Given the description of an element on the screen output the (x, y) to click on. 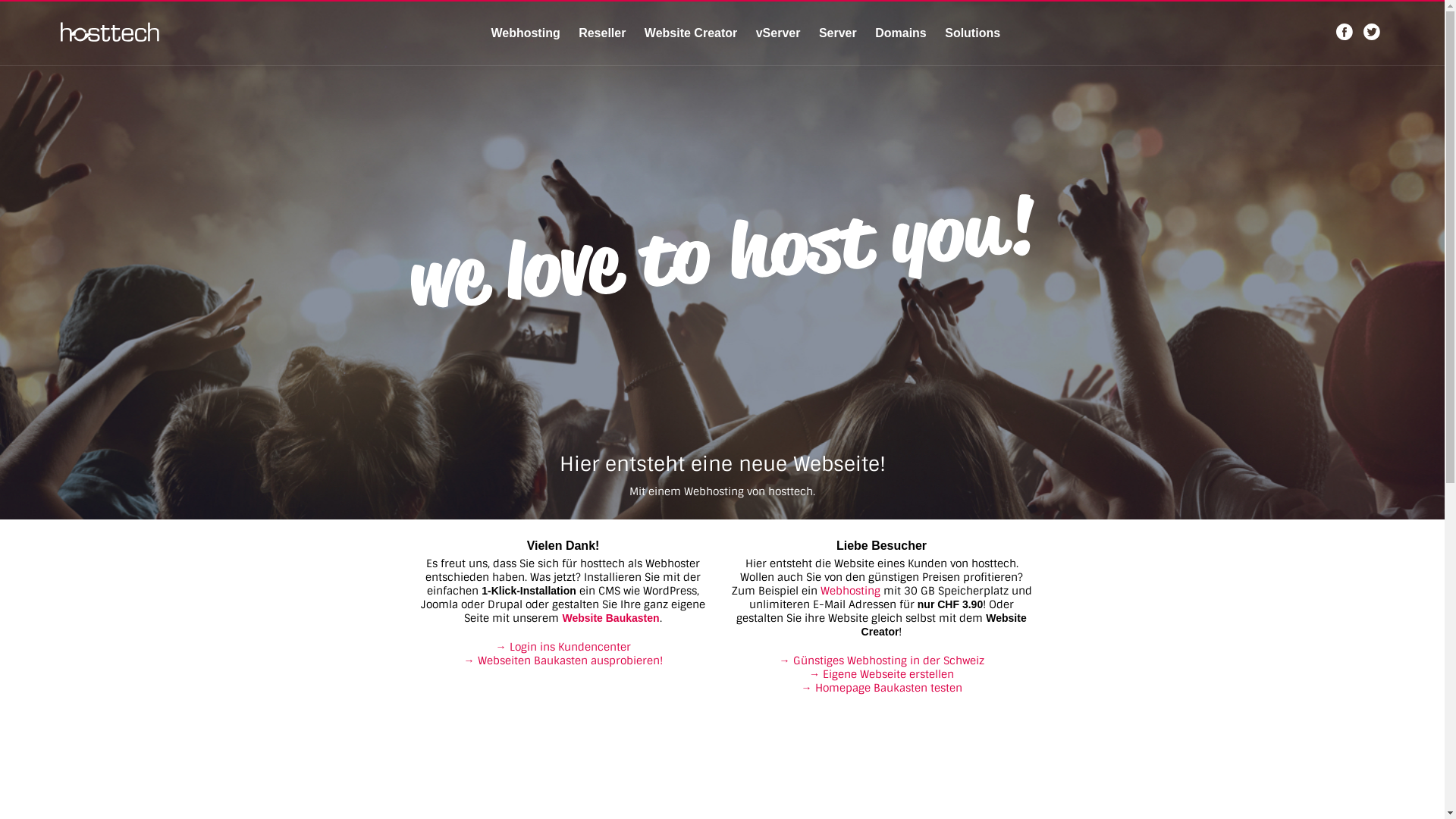
Solutions Element type: text (972, 32)
Website Baukasten Element type: text (609, 617)
vServer Element type: text (778, 32)
Website Creator Element type: text (690, 32)
Webhosting Element type: text (524, 32)
Reseller Element type: text (601, 32)
Server Element type: text (837, 32)
Domains Element type: text (900, 32)
Webhosting Element type: text (850, 590)
